Given the description of an element on the screen output the (x, y) to click on. 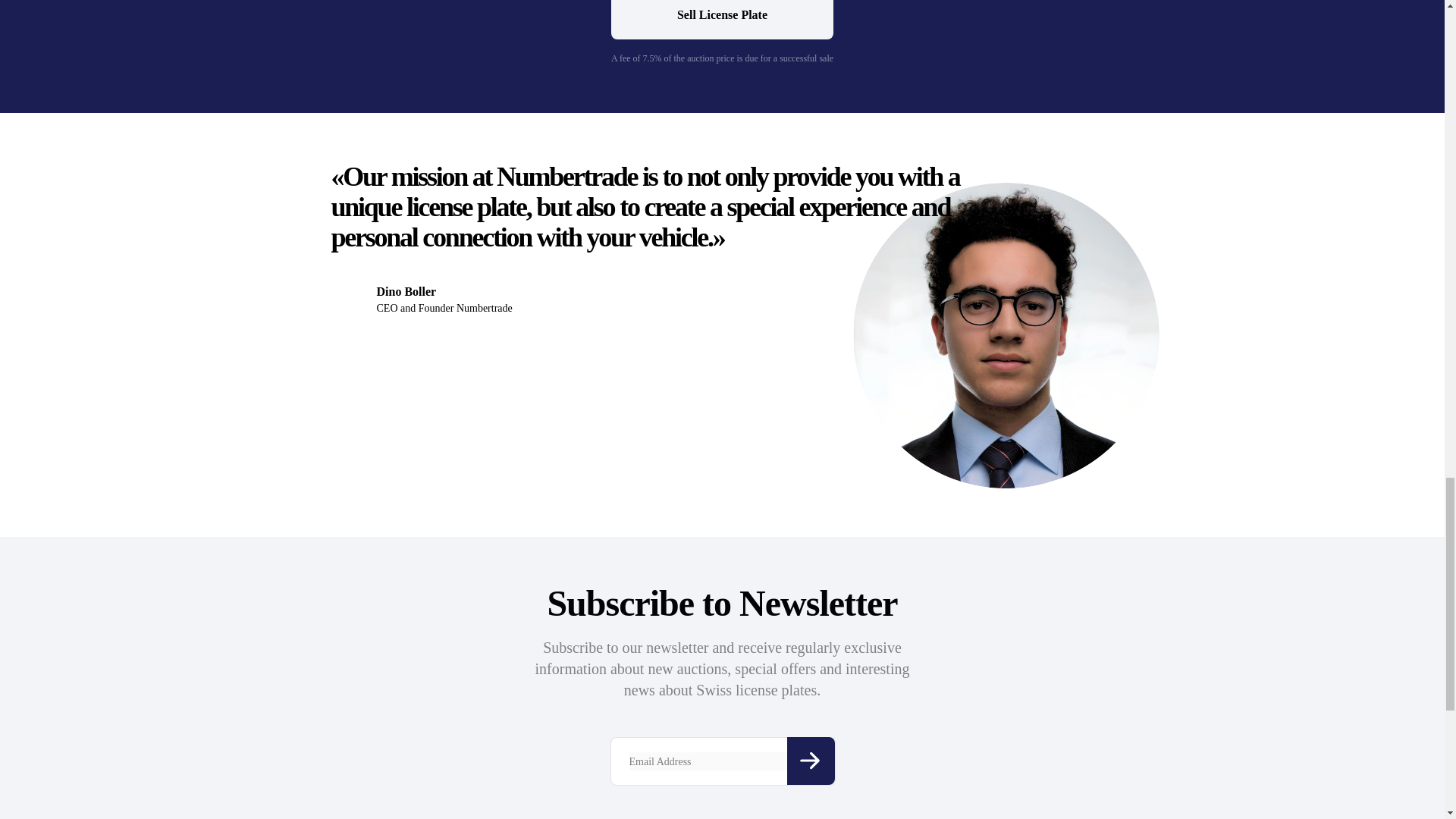
Sell License Plate (721, 19)
Icon description (810, 760)
